Given the description of an element on the screen output the (x, y) to click on. 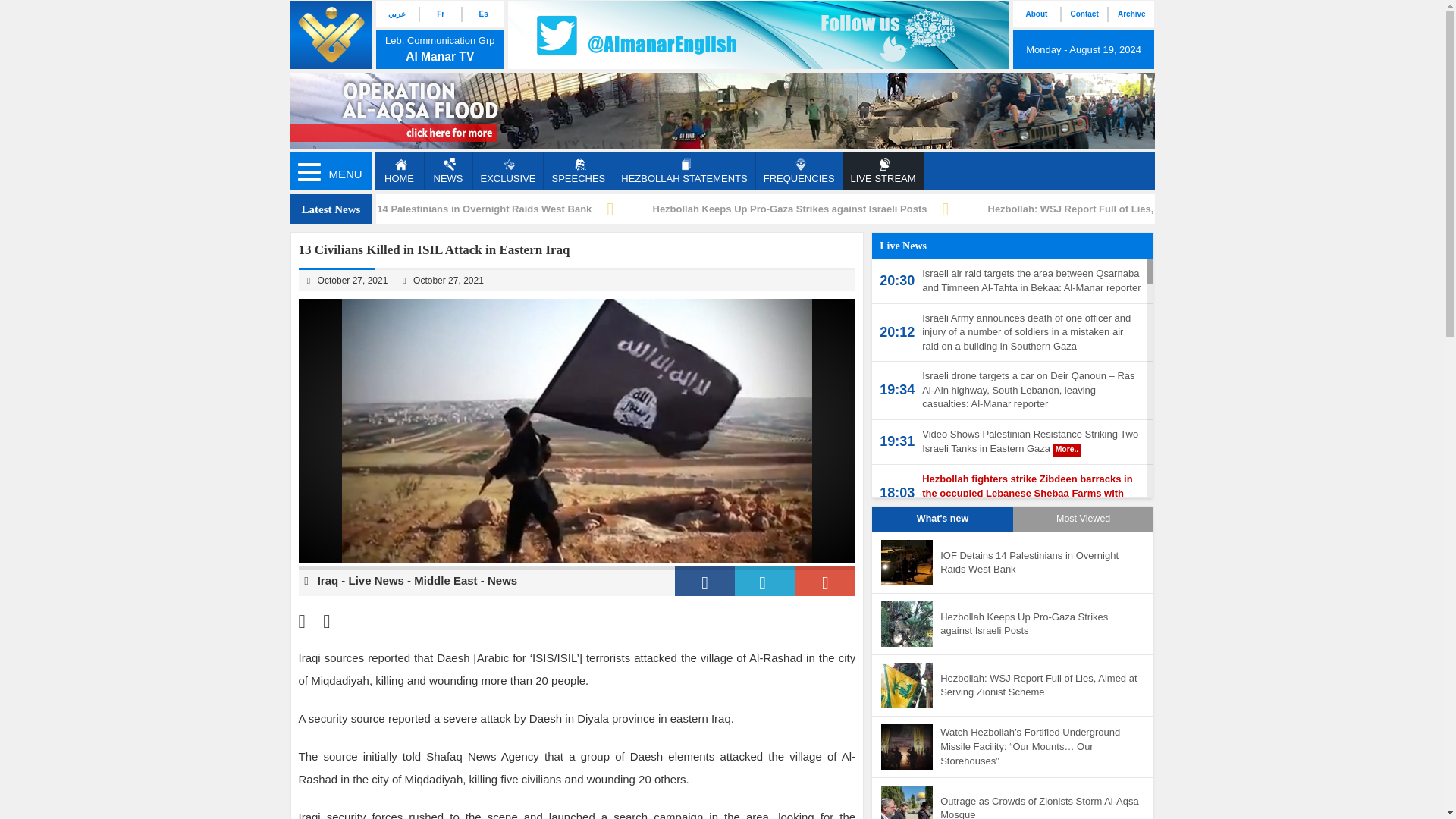
Hezbollah Keeps Up Pro-Gaza Strikes against Israeli Posts (789, 208)
LIVE STREAM (883, 171)
FREQUENCIES (799, 171)
Fr (440, 14)
Live News (376, 580)
Es (482, 14)
NEWS (447, 171)
HEZBOLLAH STATEMENTS (683, 171)
